Given the description of an element on the screen output the (x, y) to click on. 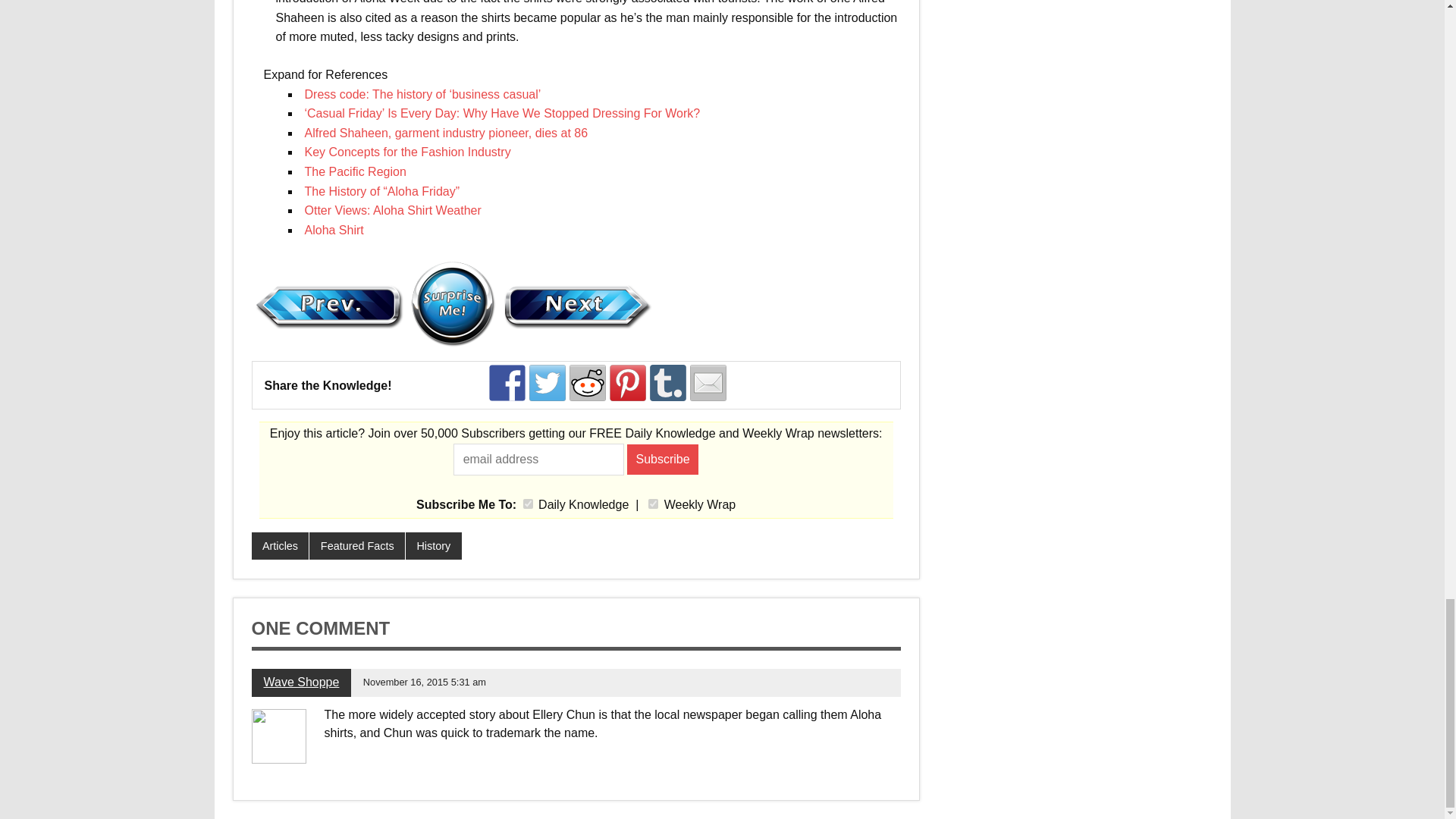
Share on Facebook (507, 382)
Random (451, 302)
Expand for References (319, 77)
1 (527, 503)
Subscribe (662, 459)
2 (652, 503)
